Given the description of an element on the screen output the (x, y) to click on. 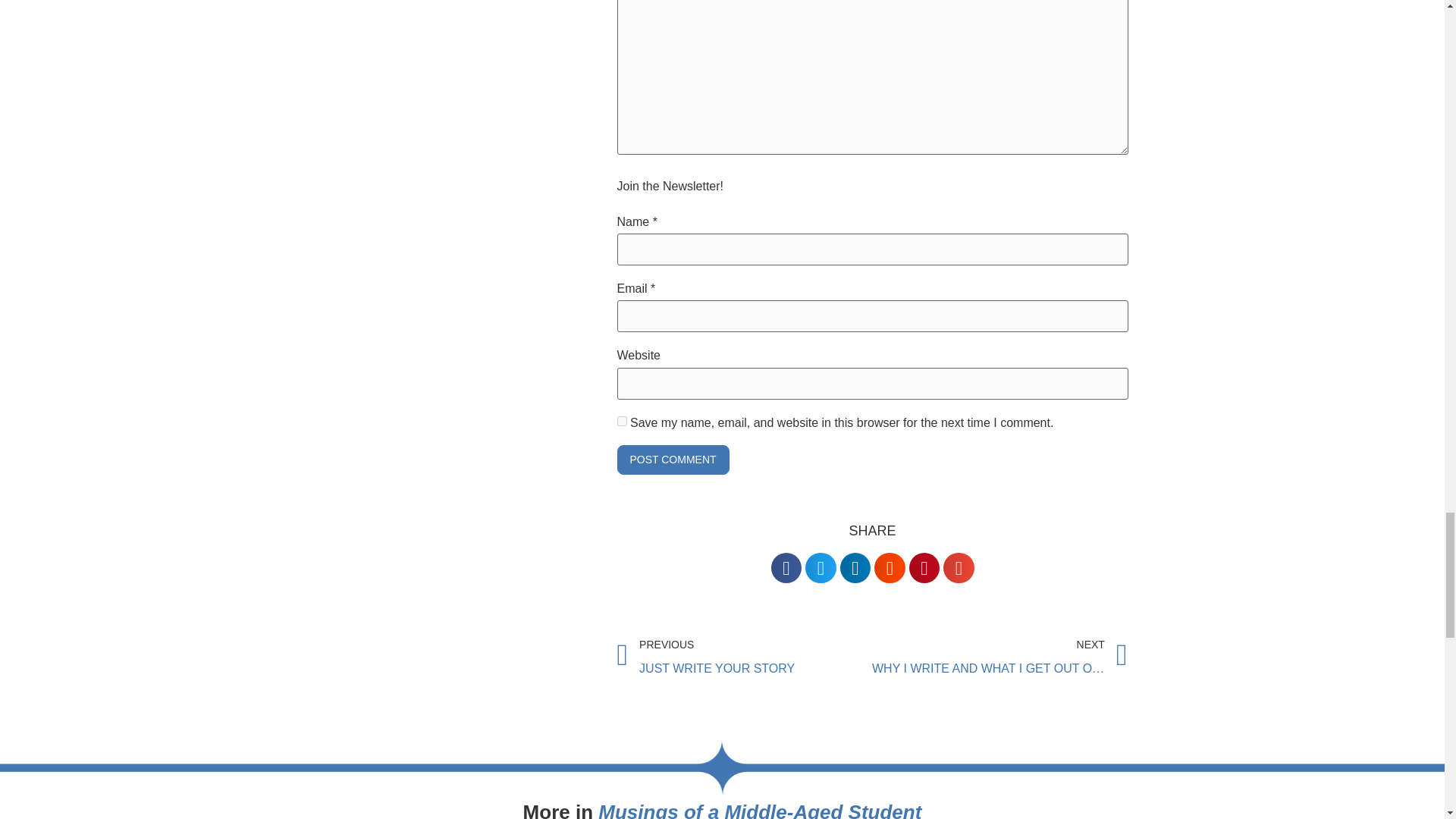
Post Comment (673, 460)
yes (622, 420)
